Given the description of an element on the screen output the (x, y) to click on. 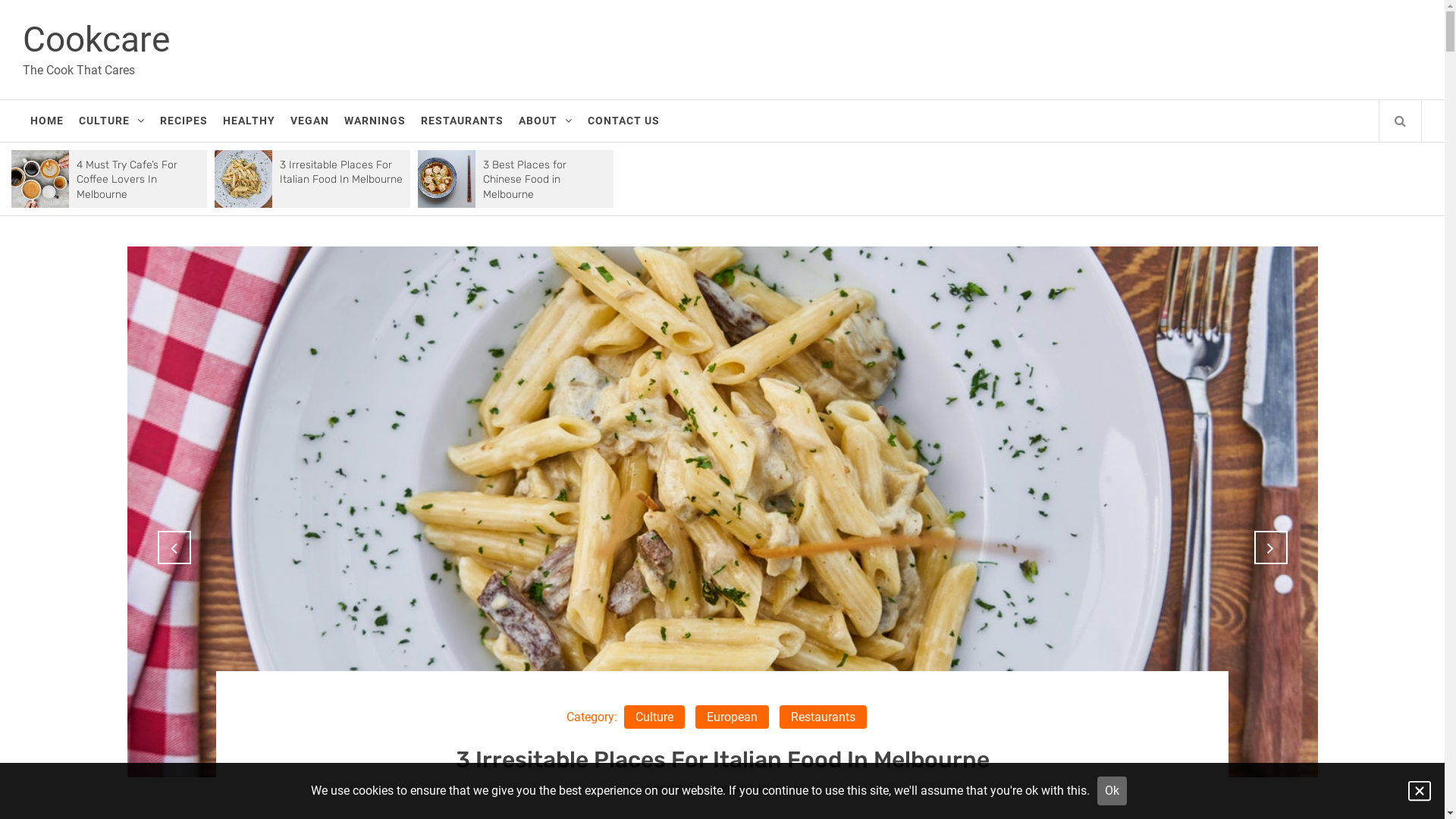
HEALTHY Element type: text (248, 120)
Australian Element type: text (626, 717)
CONTACT US Element type: text (623, 120)
RECIPES Element type: text (183, 120)
Ok Element type: text (1111, 790)
ABOUT Element type: text (545, 120)
Restaurants Element type: text (790, 717)
Vegan Element type: text (873, 717)
3 Best Places for Chinese Food in Melbourne Element type: text (524, 179)
CULTURE Element type: text (111, 120)
WARNINGS Element type: text (374, 120)
Search Element type: text (797, 37)
HOME Element type: text (46, 120)
VEGAN Element type: text (309, 120)
Cookcare Element type: text (95, 38)
3 Irresitable Places For Italian Food In Melbourne Element type: text (340, 172)
Culture Element type: text (706, 717)
RESTAURANTS Element type: text (462, 120)
